Given the description of an element on the screen output the (x, y) to click on. 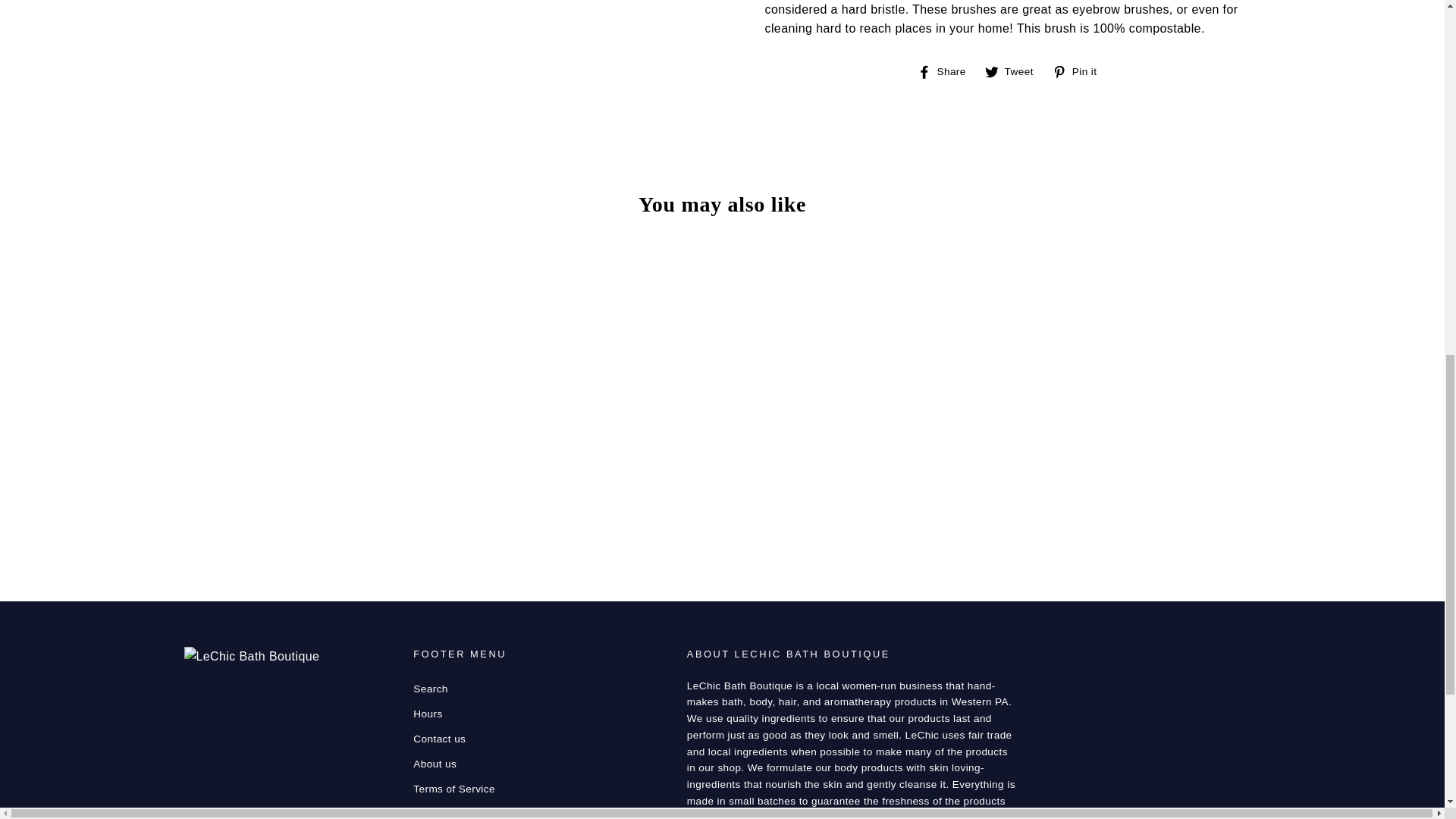
Tweet on Twitter (1015, 70)
Pin on Pinterest (1080, 70)
Share on Facebook (946, 70)
